Given the description of an element on the screen output the (x, y) to click on. 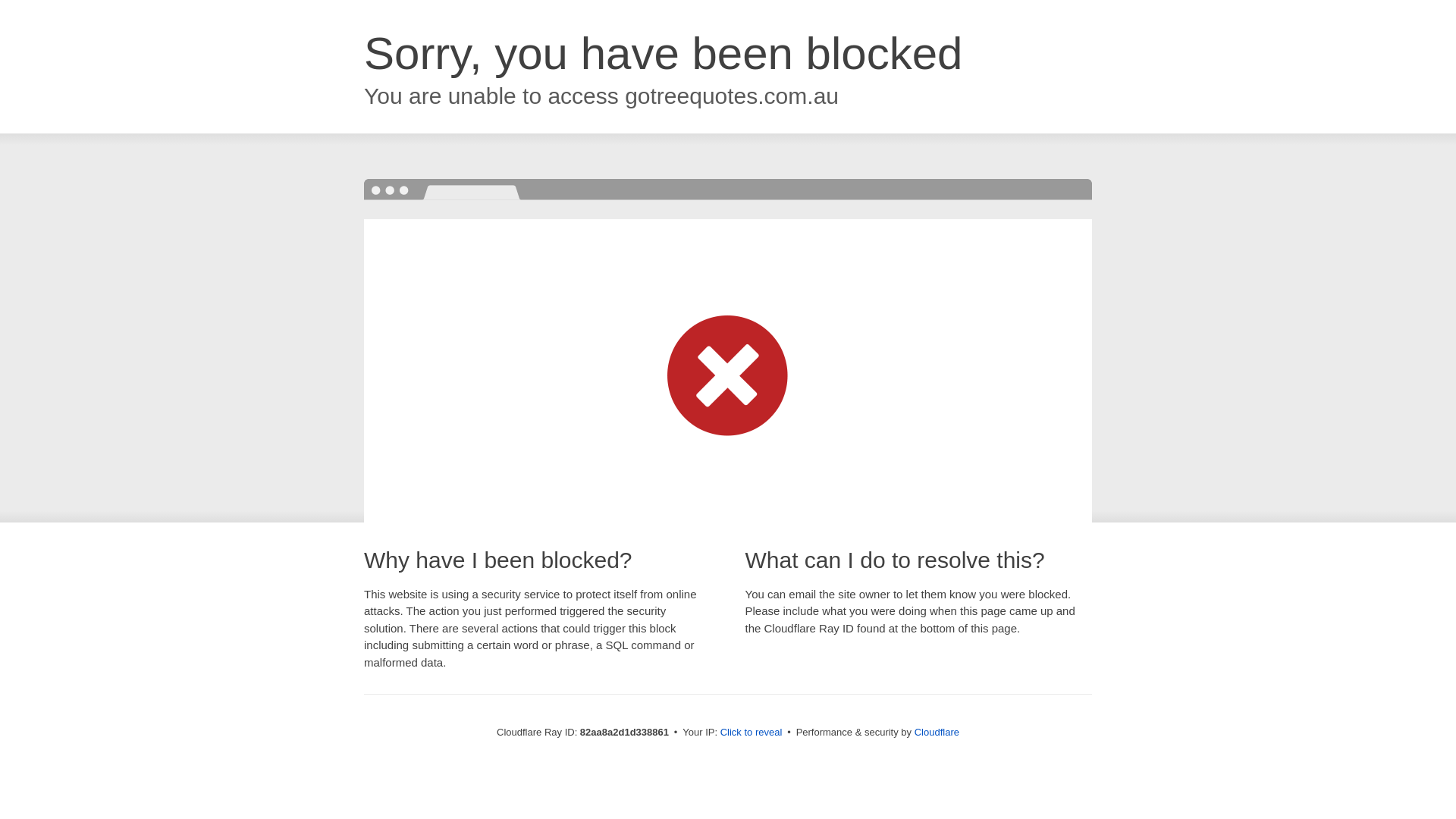
Cloudflare Element type: text (936, 731)
Click to reveal Element type: text (751, 732)
